Given the description of an element on the screen output the (x, y) to click on. 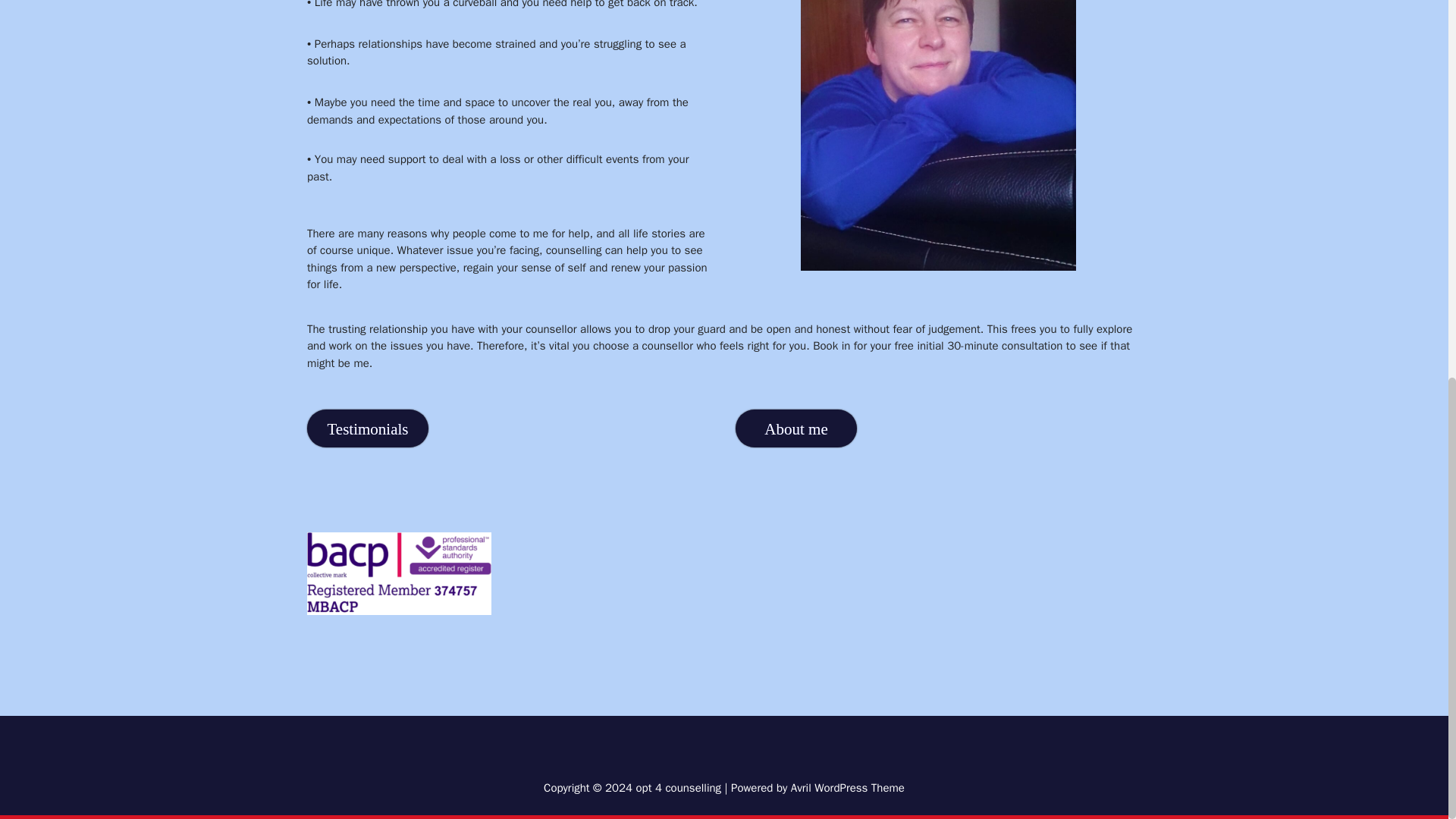
About me (796, 433)
Testimonials (367, 435)
Avril WordPress Theme (847, 787)
